Given the description of an element on the screen output the (x, y) to click on. 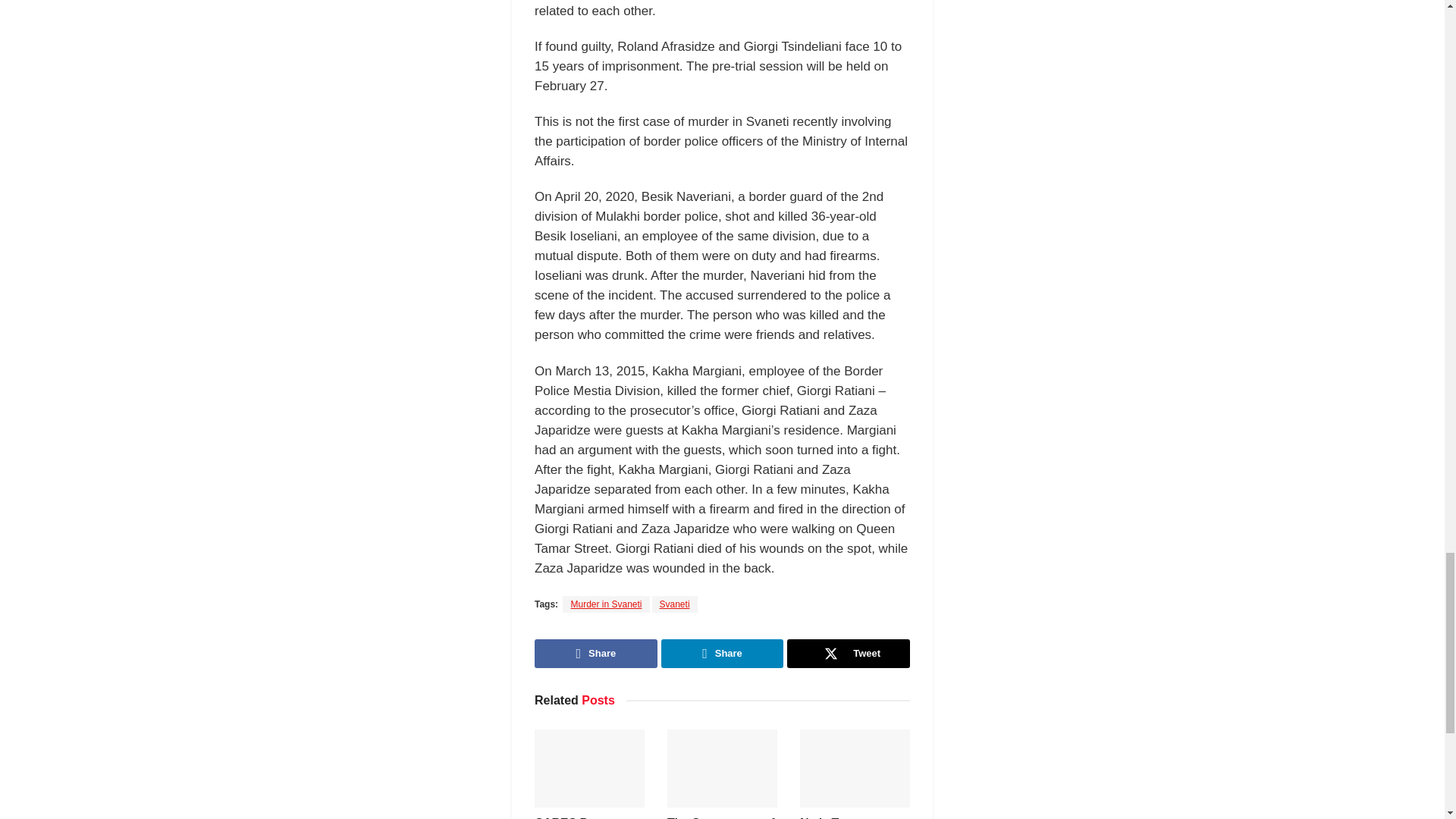
Murder in Svaneti (605, 604)
